Given the description of an element on the screen output the (x, y) to click on. 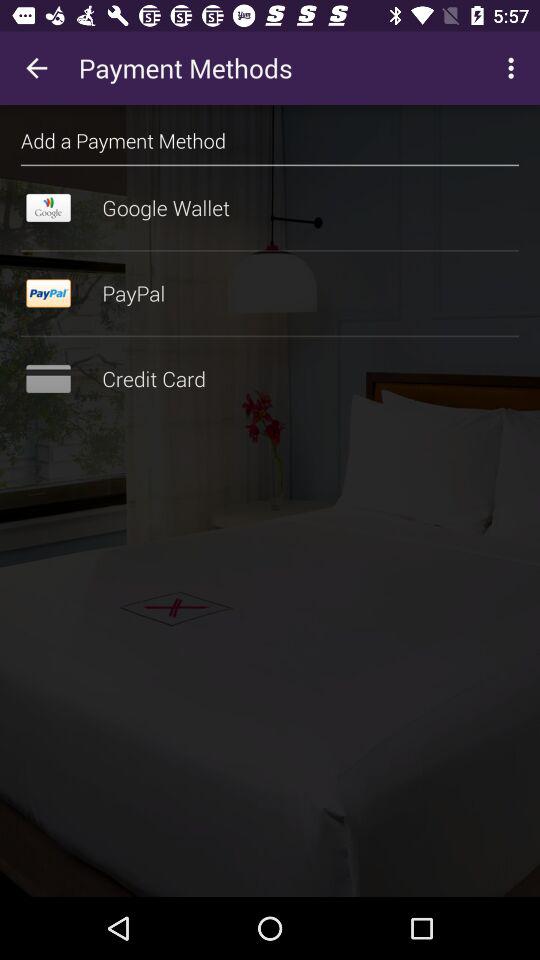
choose icon below google wallet item (270, 250)
